Given the description of an element on the screen output the (x, y) to click on. 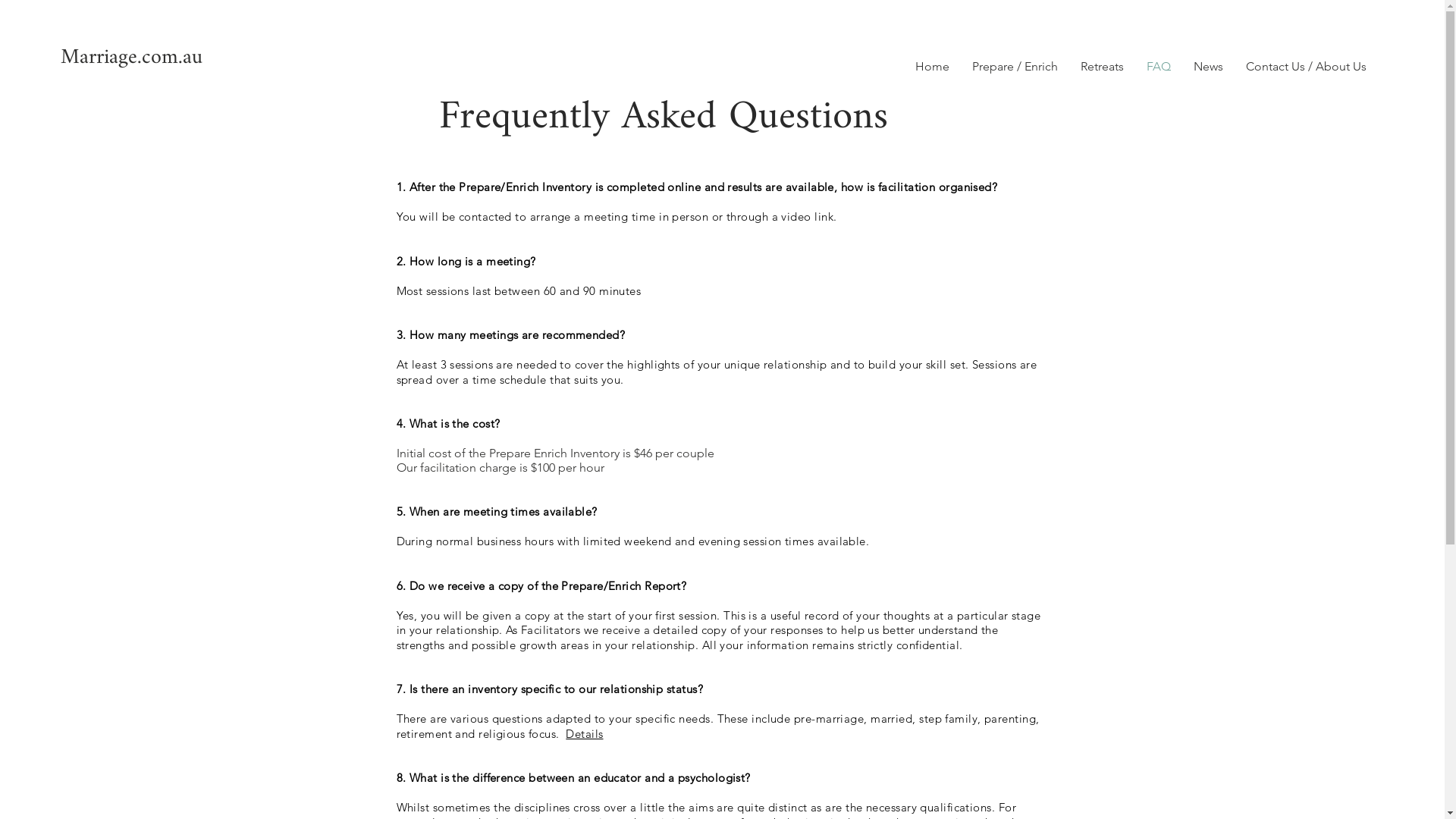
Retreats Element type: text (1102, 66)
Marriage.com.au Element type: text (195, 57)
Details Element type: text (583, 733)
Prepare / Enrich Element type: text (1014, 66)
Contact Us / About Us Element type: text (1305, 66)
FAQ Element type: text (1158, 66)
News Element type: text (1208, 66)
Home Element type: text (931, 66)
